Given the description of an element on the screen output the (x, y) to click on. 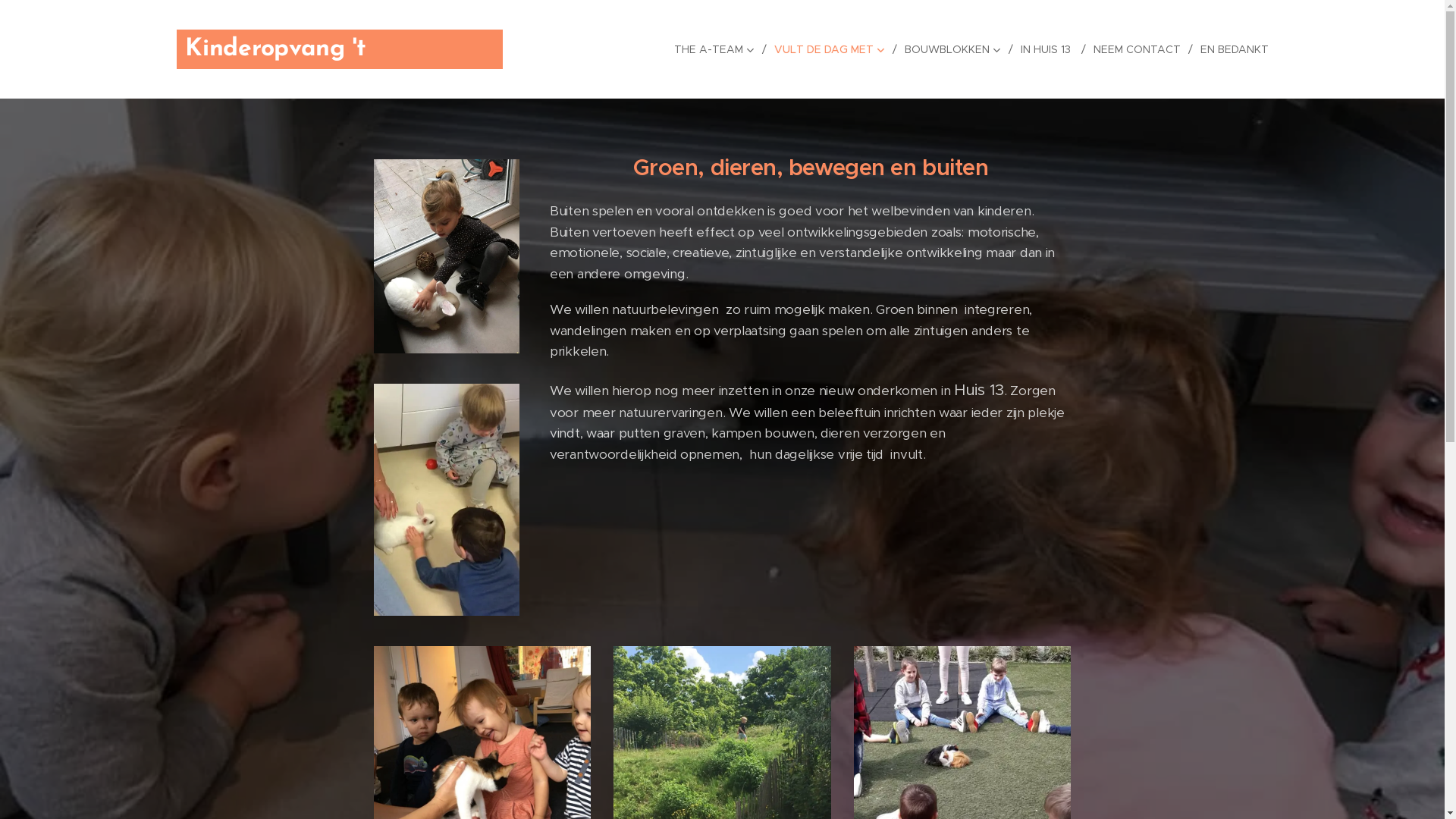
IN HUIS 13 Element type: text (1049, 49)
VULT DE DAG MET Element type: text (830, 49)
THE A-TEAM Element type: text (718, 49)
Kinderopvang 't Achterhuisje Element type: text (339, 49)
EN BEDANKT Element type: text (1229, 49)
BOUWBLOKKEN Element type: text (954, 49)
NEEM CONTACT Element type: text (1138, 49)
